Given the description of an element on the screen output the (x, y) to click on. 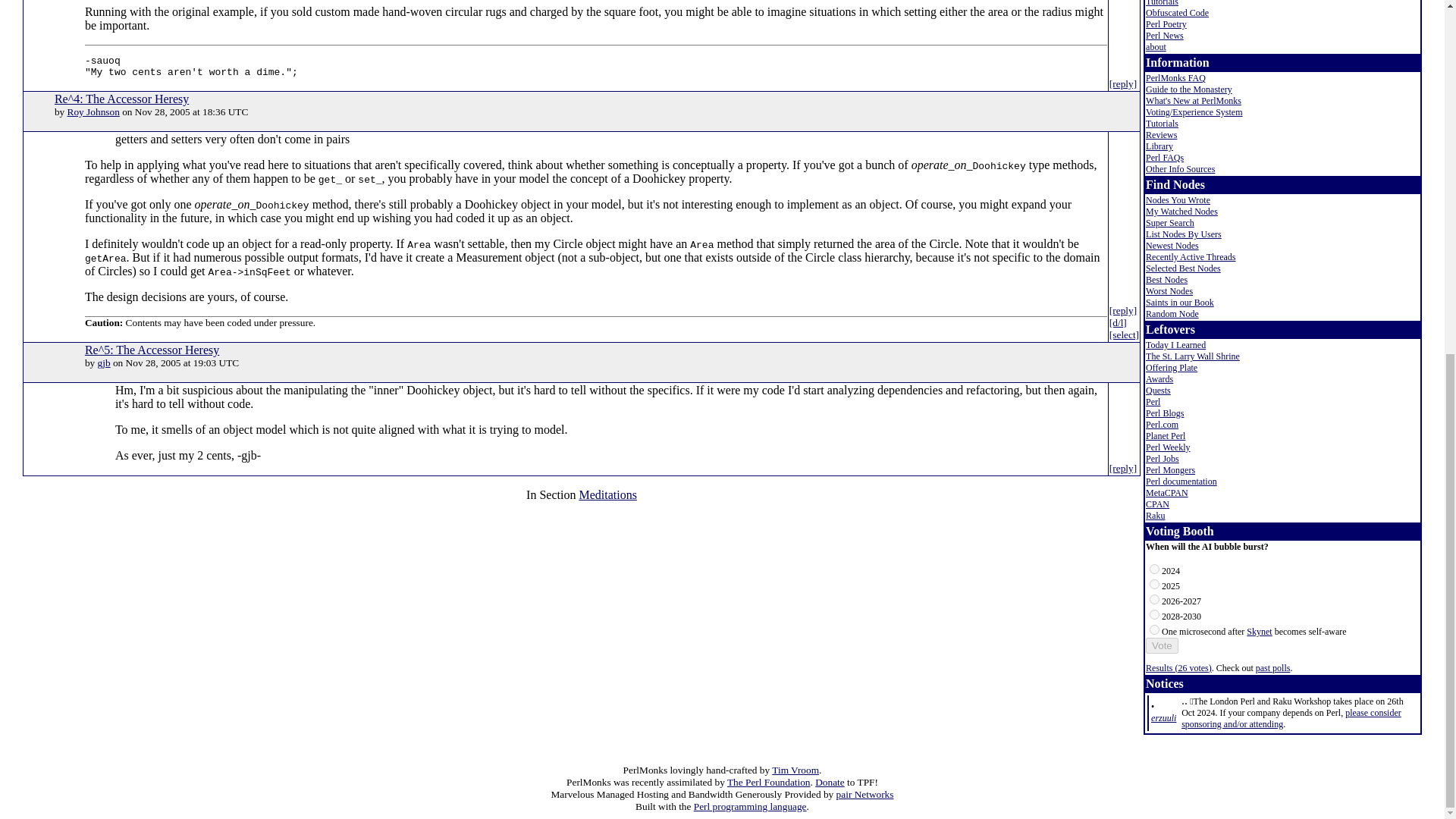
Vote (1161, 645)
3 (1154, 614)
4 (1154, 629)
2 (1154, 599)
0 (1154, 569)
2024-05-30 14:23:36 (1163, 717)
1 (1154, 583)
